Given the description of an element on the screen output the (x, y) to click on. 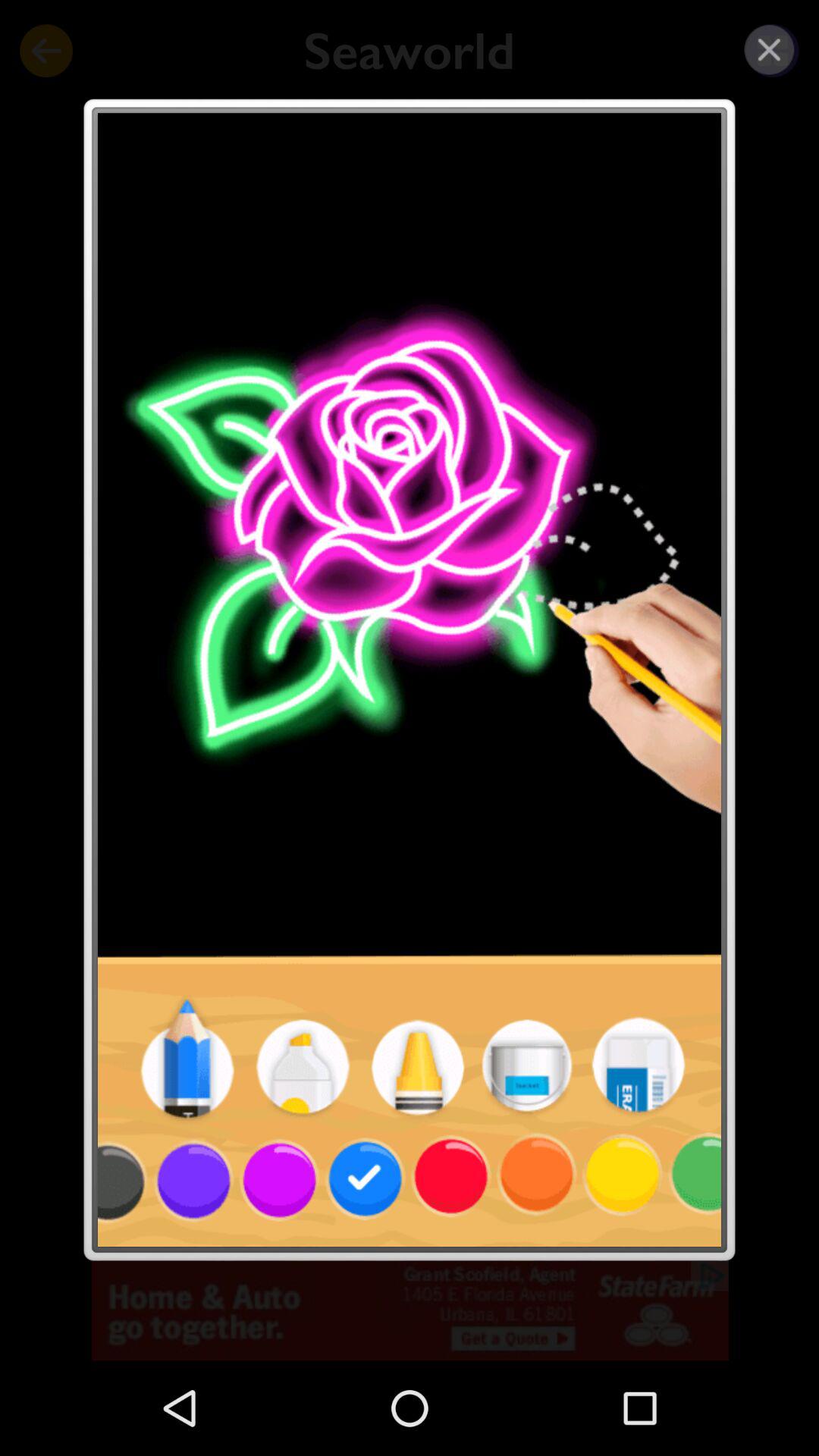
close popup window (769, 49)
